Given the description of an element on the screen output the (x, y) to click on. 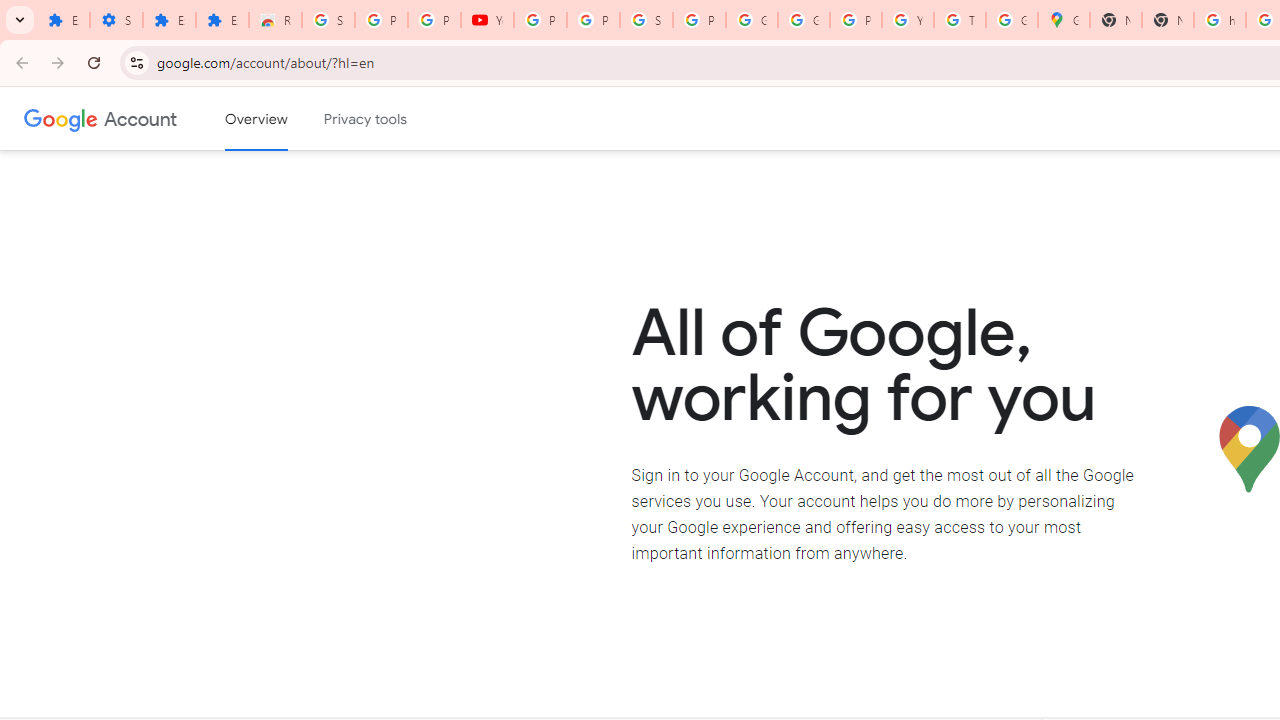
YouTube (487, 20)
Google Account (751, 20)
Google Account overview (256, 119)
Privacy tools (365, 119)
Google Account (140, 118)
YouTube (907, 20)
Extensions (222, 20)
